Given the description of an element on the screen output the (x, y) to click on. 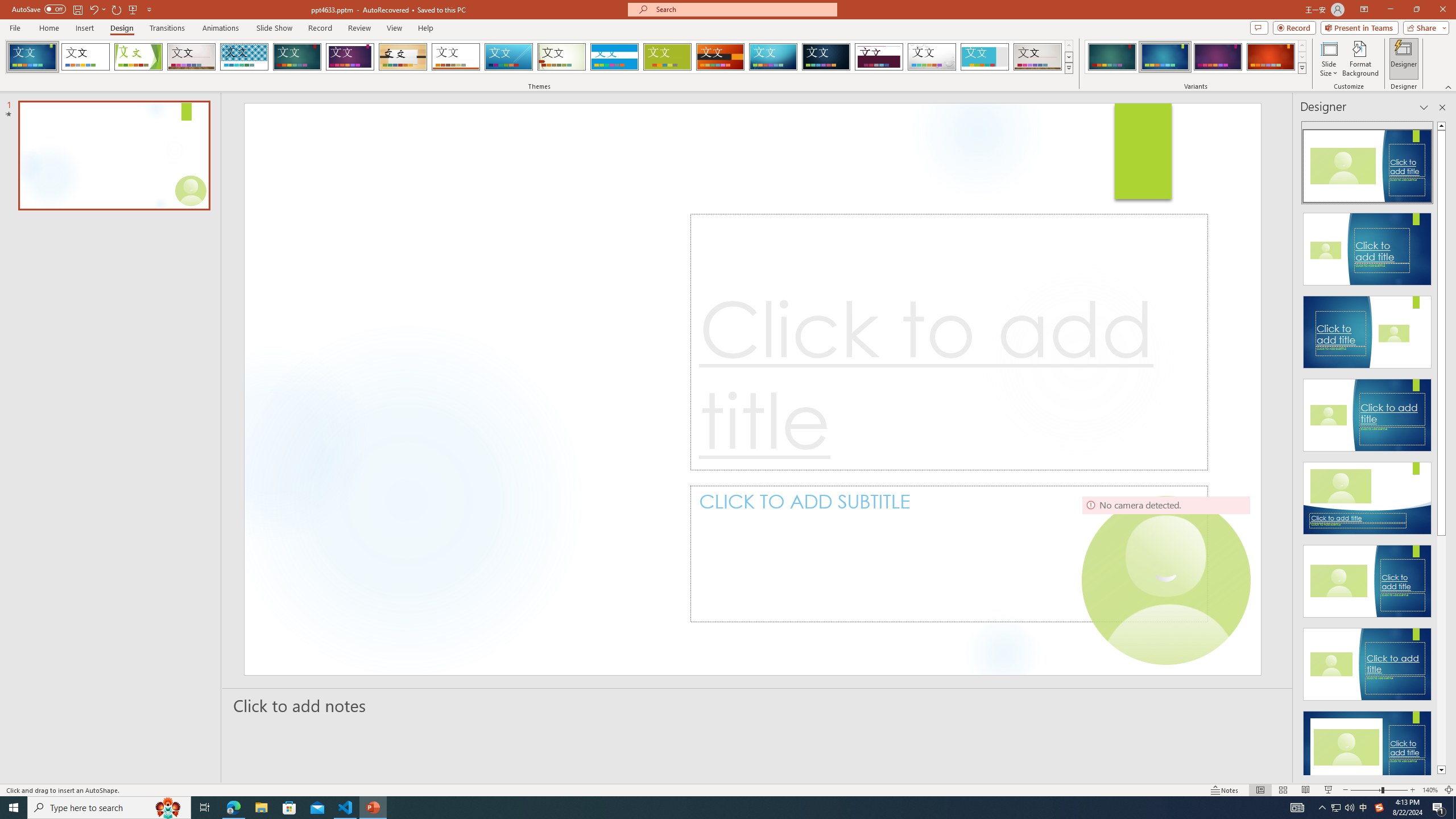
Slide Size (1328, 58)
Ion Variant 1 (1112, 56)
Berlin Loading Preview... (720, 56)
Format Background (1360, 58)
AutomationID: SlideThemesGallery (539, 56)
Design Idea (1366, 743)
